Given the description of an element on the screen output the (x, y) to click on. 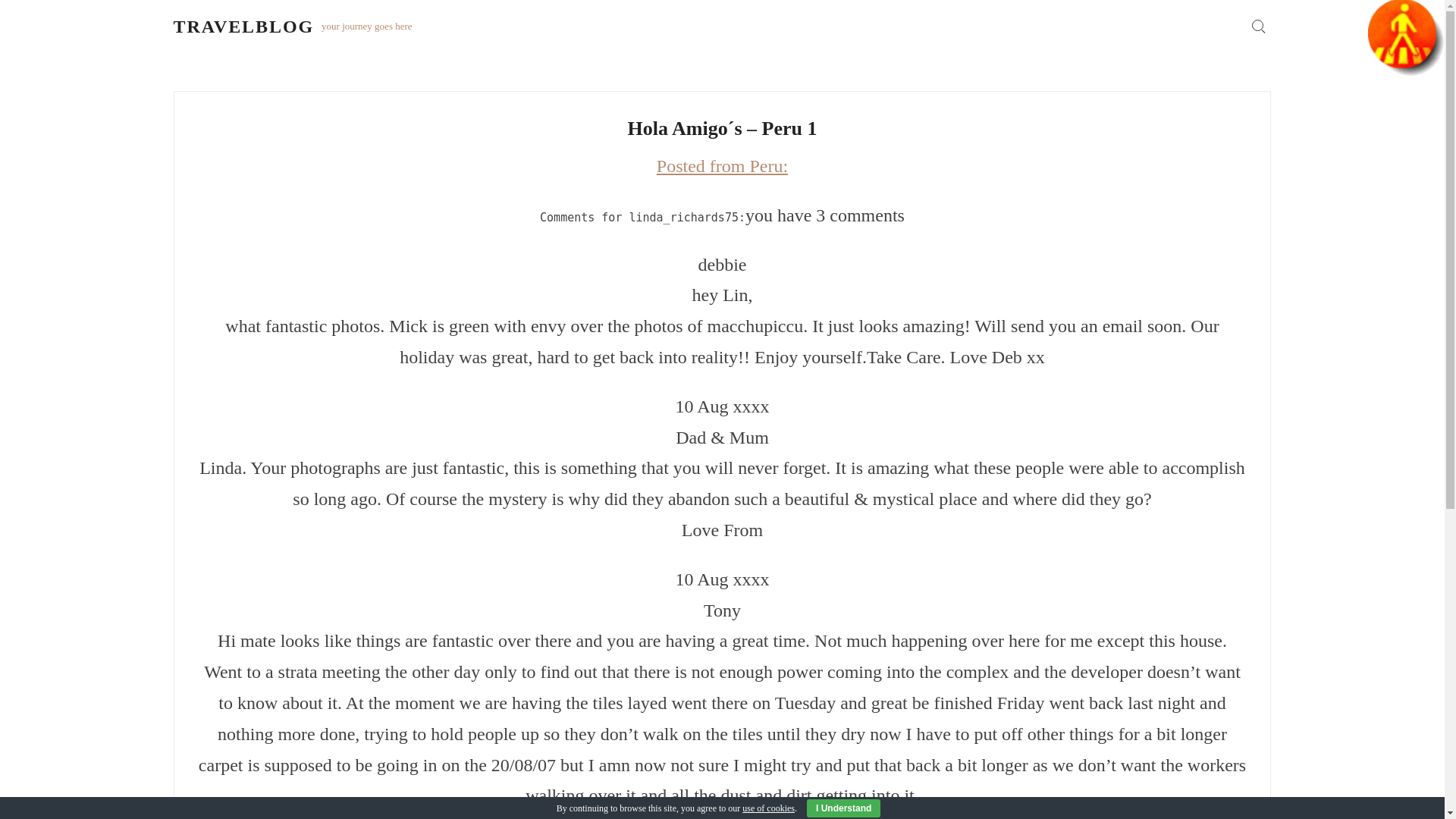
Search (1045, 409)
Search for: (1257, 26)
use of cookies (768, 808)
Posted from Peru: (721, 166)
TRAVELBLOG (243, 26)
I Understand (843, 808)
